Given the description of an element on the screen output the (x, y) to click on. 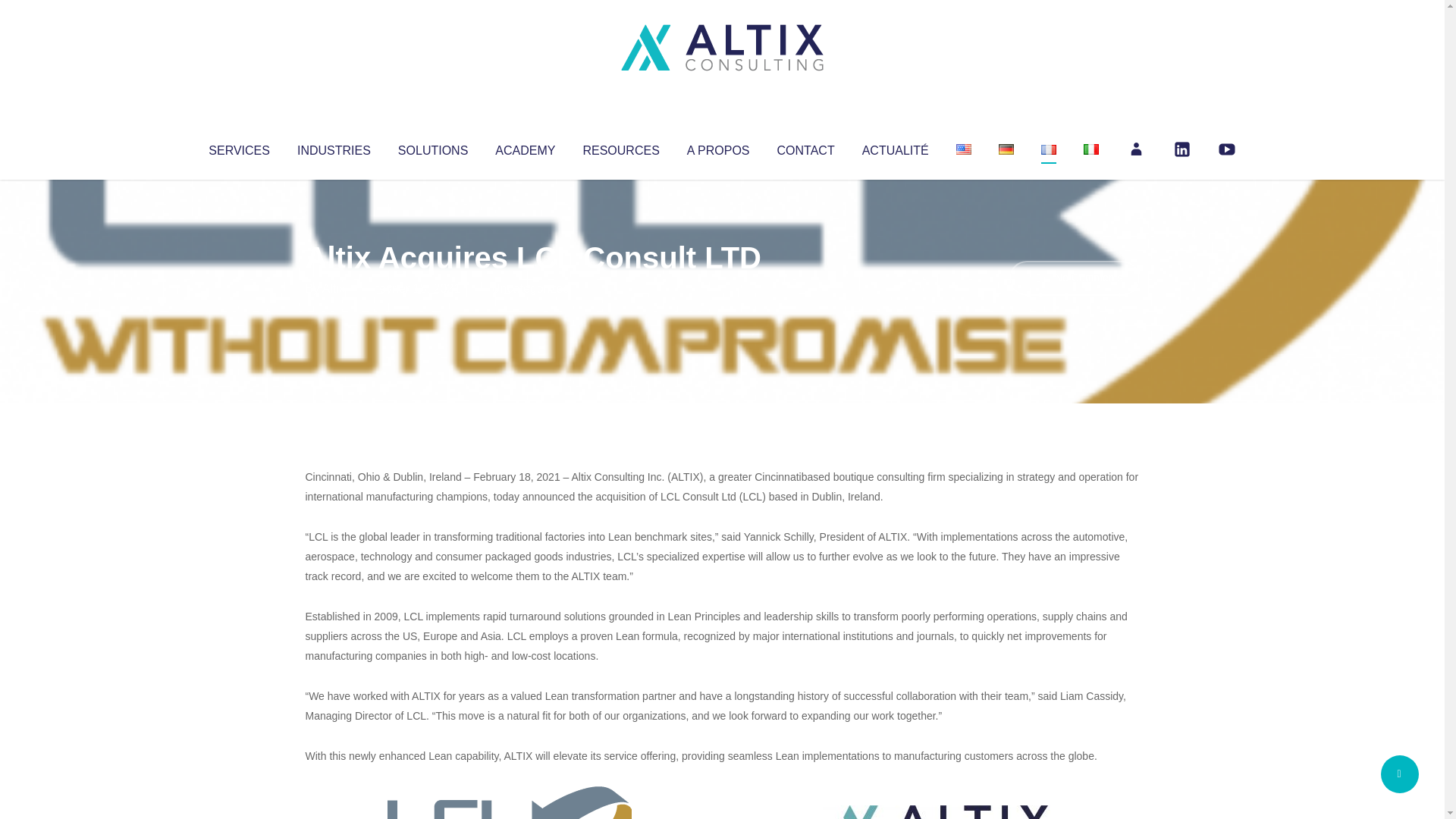
INDUSTRIES (334, 146)
SERVICES (238, 146)
ACADEMY (524, 146)
Articles par Altix (333, 287)
Uncategorized (530, 287)
No Comments (1073, 278)
RESOURCES (620, 146)
SOLUTIONS (432, 146)
Altix (333, 287)
A PROPOS (718, 146)
